Given the description of an element on the screen output the (x, y) to click on. 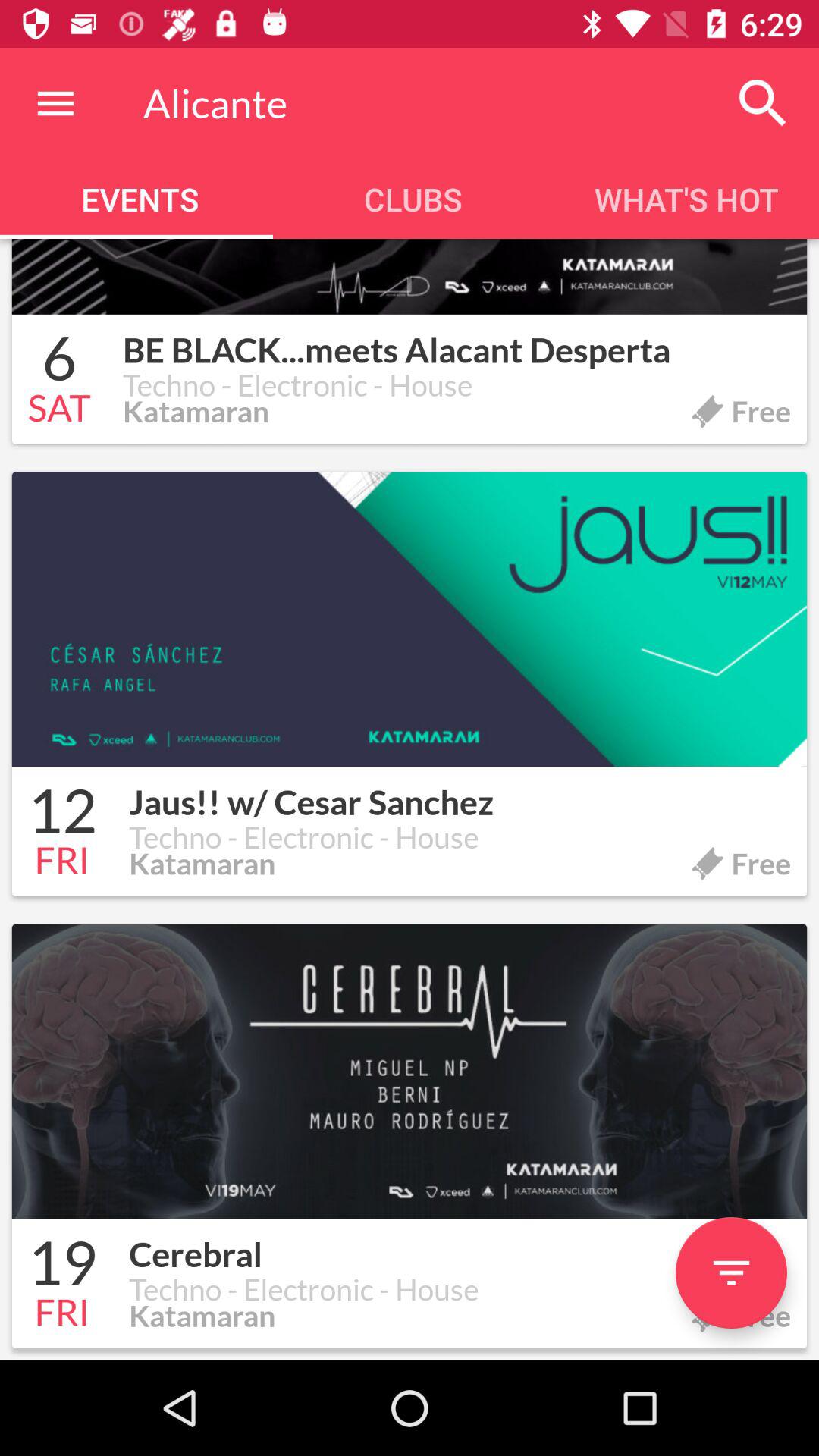
tap item next to the alicante icon (763, 103)
